Given the description of an element on the screen output the (x, y) to click on. 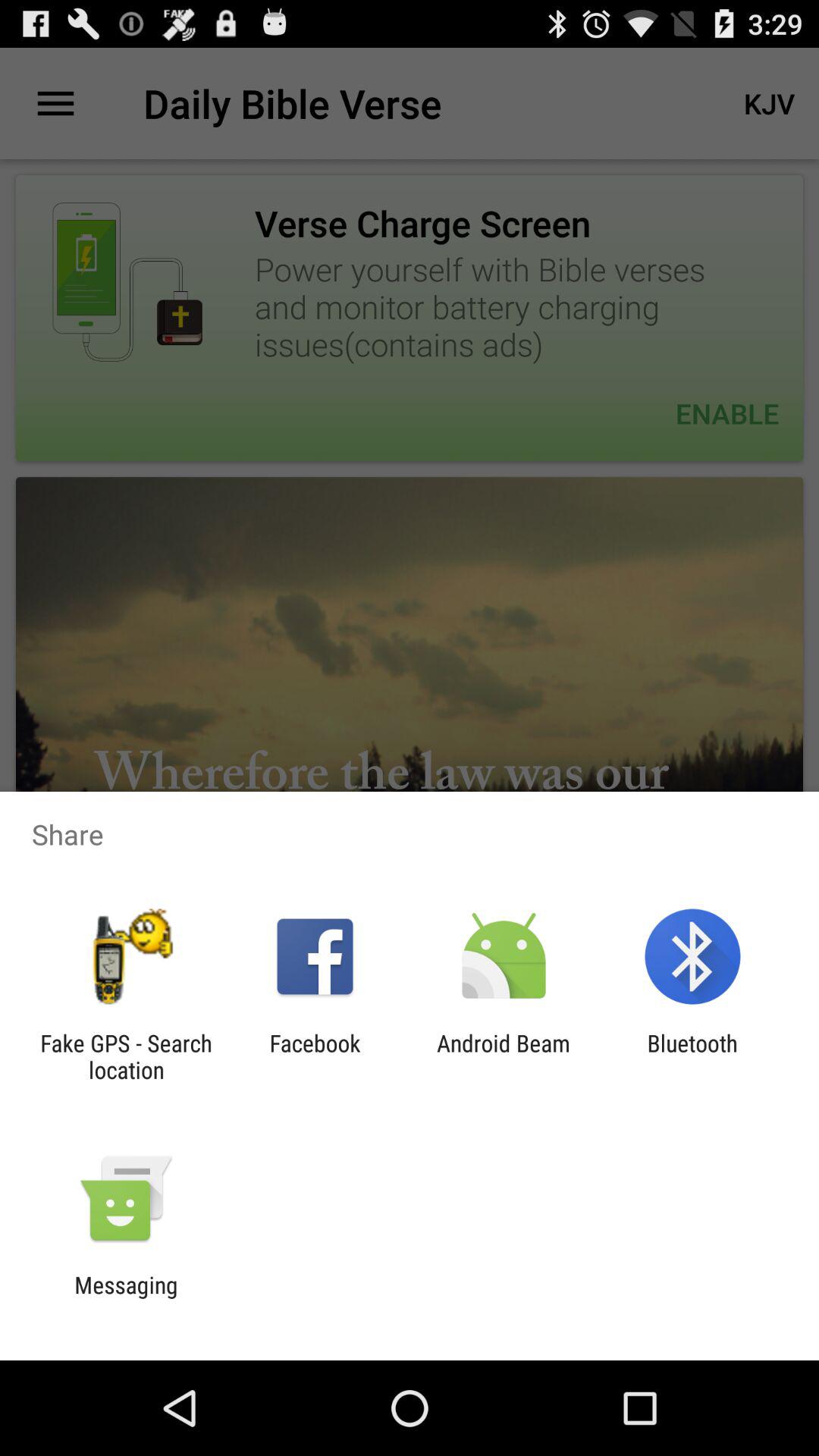
press fake gps search (125, 1056)
